Given the description of an element on the screen output the (x, y) to click on. 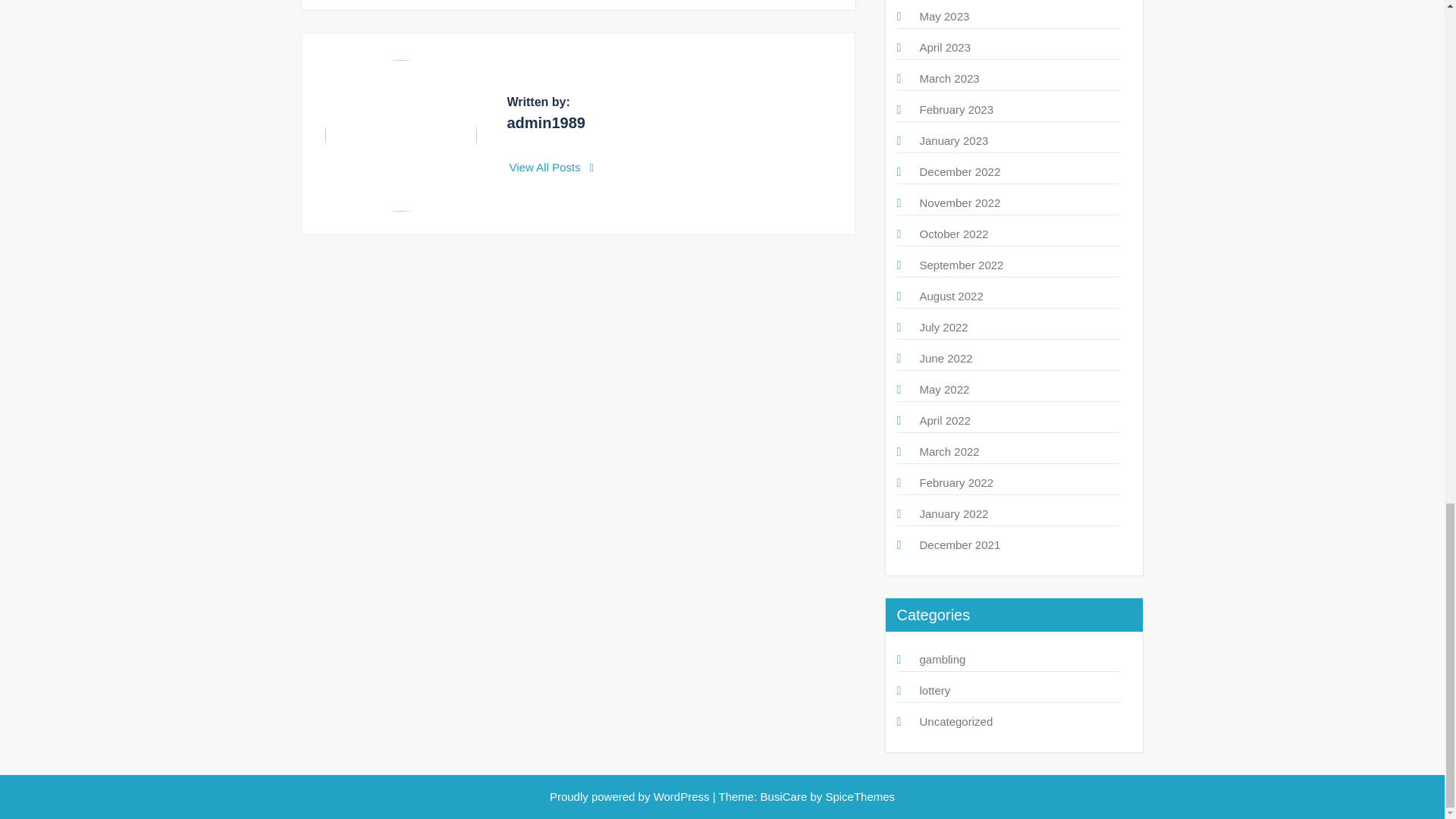
March 2023 (948, 78)
November 2022 (959, 202)
January 2023 (953, 140)
View All Posts (551, 166)
April 2023 (944, 47)
February 2023 (955, 109)
May 2023 (943, 15)
December 2022 (959, 171)
